Given the description of an element on the screen output the (x, y) to click on. 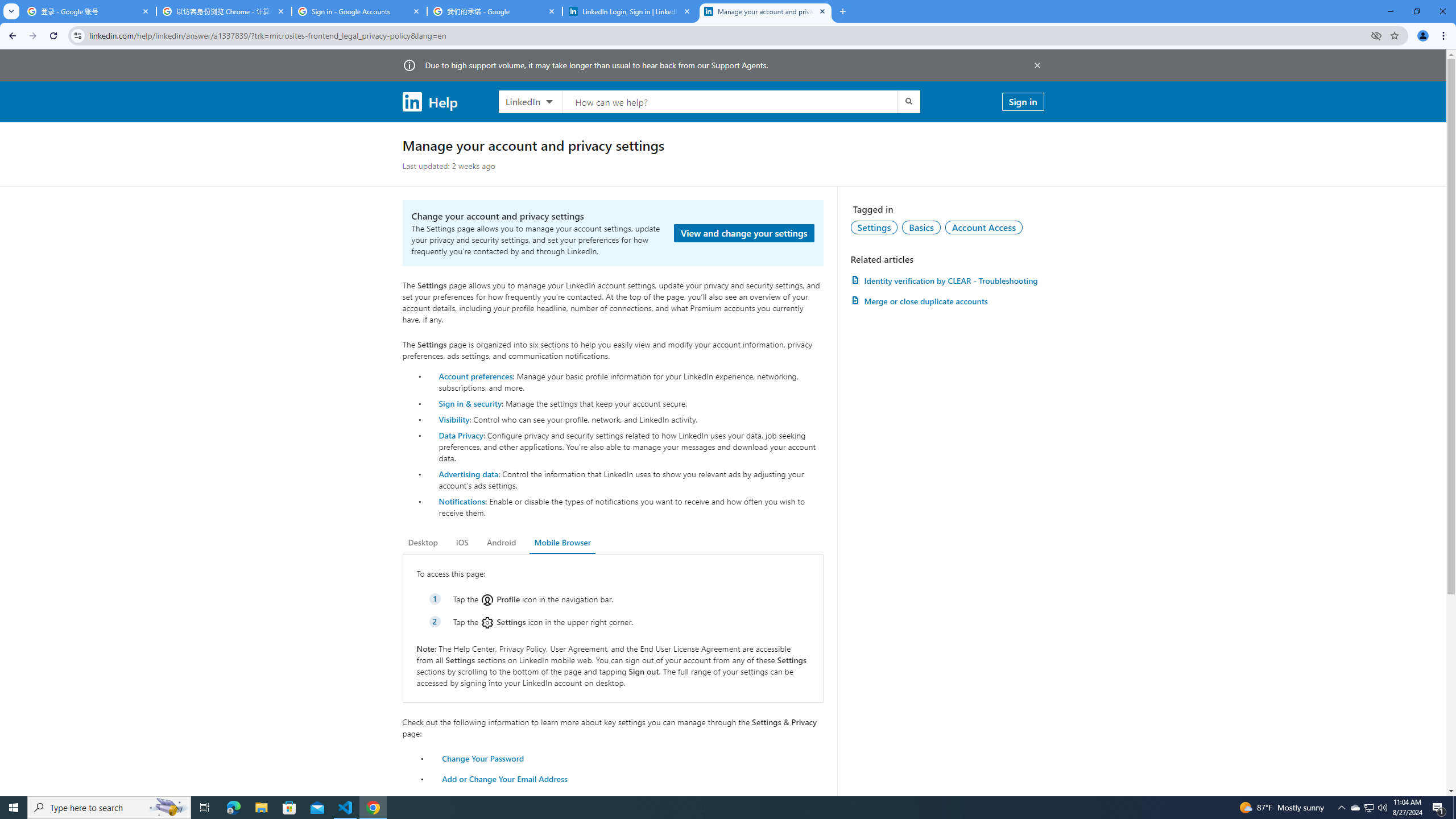
Desktop (422, 542)
Manage your account and privacy settings | LinkedIn Help (765, 11)
Data Privacy (460, 434)
